Given the description of an element on the screen output the (x, y) to click on. 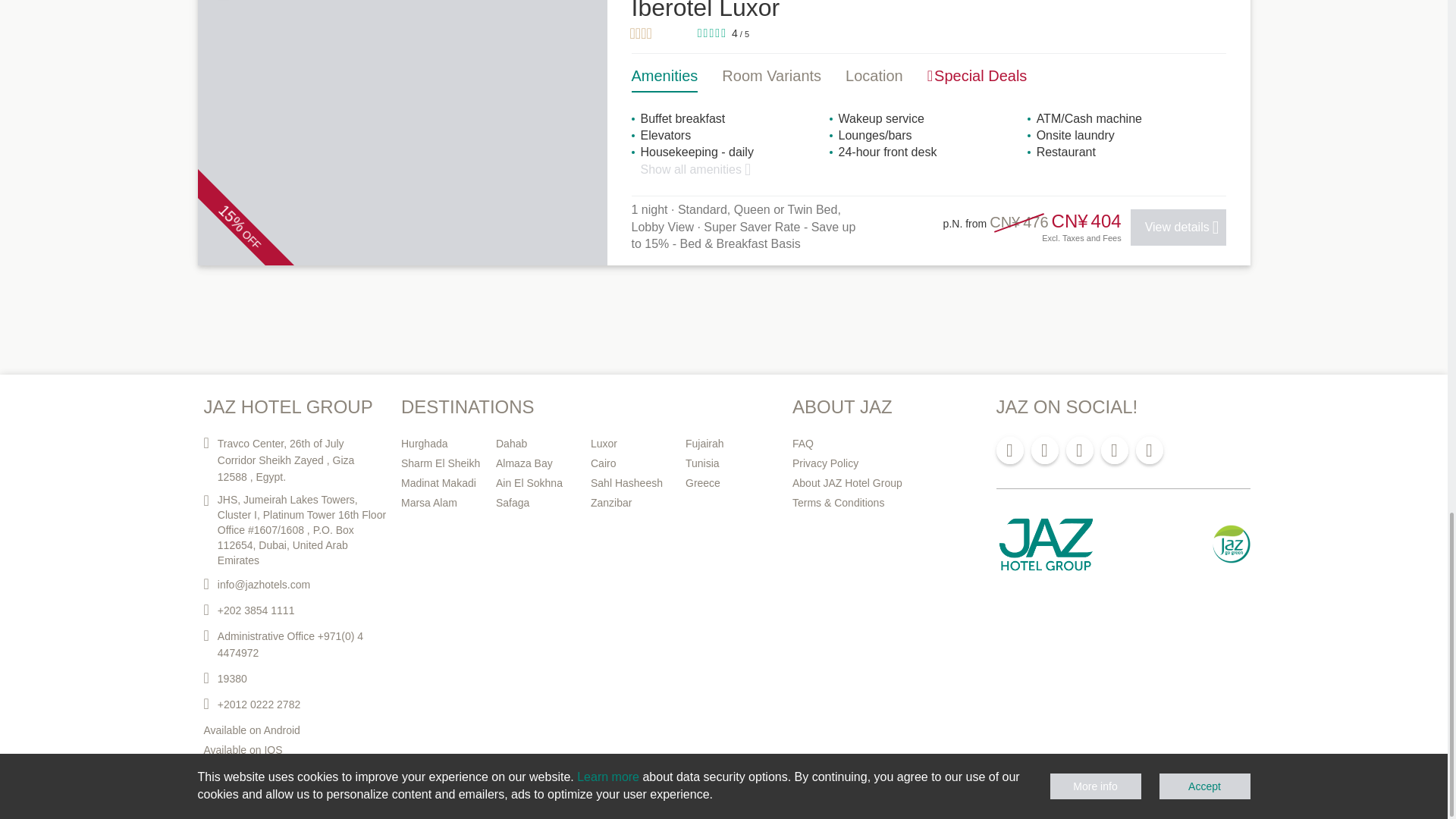
Available on Android (290, 730)
Ain El Sokhna (537, 483)
Sharm El Sheikh (442, 463)
Fujairah (726, 443)
Ain El Sokhna (537, 483)
Madinat Makadi (442, 483)
Luxor (631, 443)
Show all amenities (694, 169)
Address (290, 460)
Hurghada (442, 443)
